Given the description of an element on the screen output the (x, y) to click on. 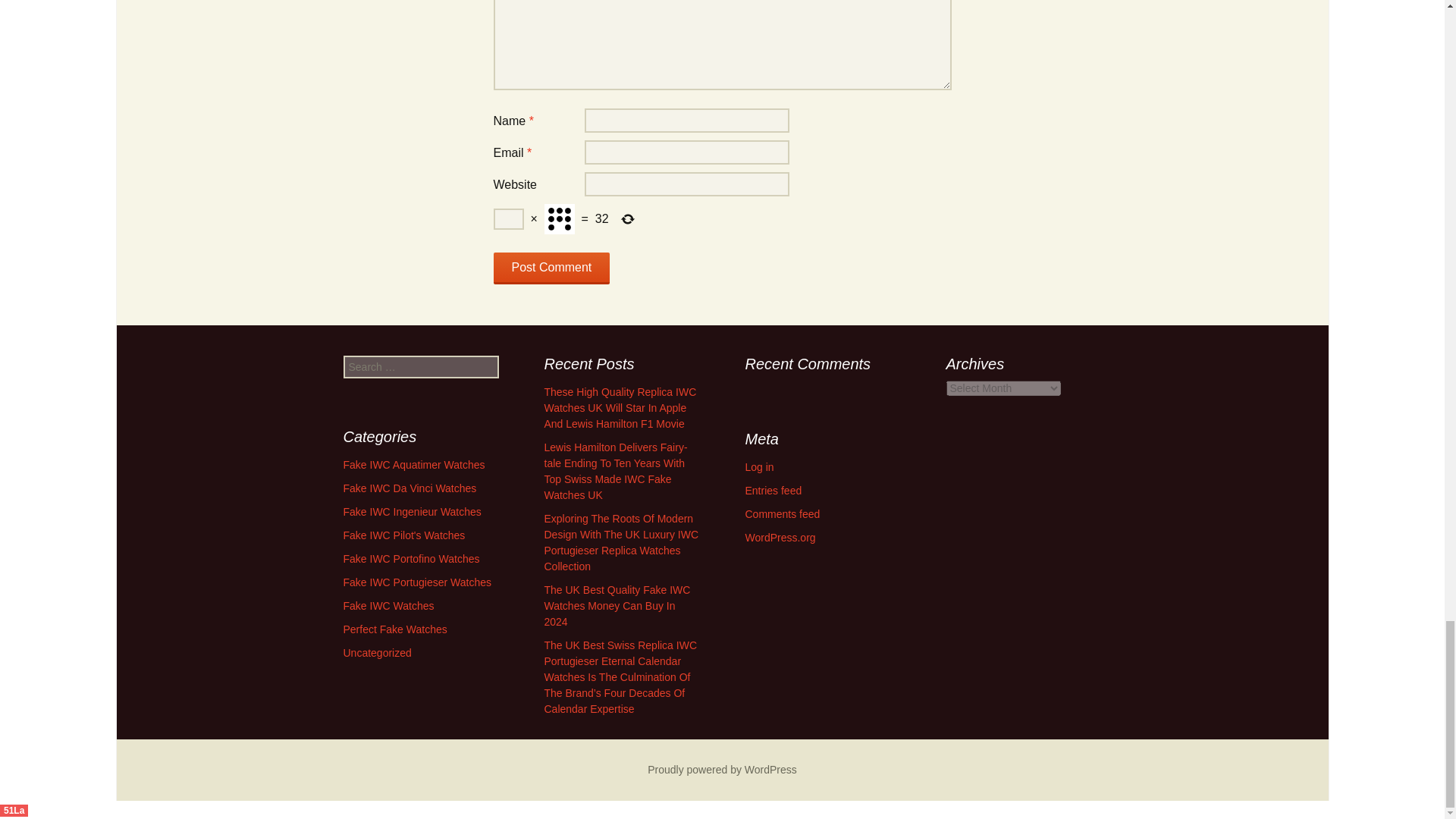
Fake IWC Aquatimer Watches (413, 464)
Entries feed (773, 490)
Post Comment (551, 268)
Uncategorized (376, 653)
Fake IWC Da Vinci Watches (409, 488)
Fake IWC Watches (387, 605)
Perfect Fake Watches (394, 629)
The UK Best Quality Fake IWC Watches Money Can Buy In 2024 (617, 605)
Fake IWC Pilot's Watches (403, 535)
Fake IWC Portugieser Watches (417, 582)
Fake IWC Ingenieur Watches (411, 511)
Post Comment (551, 268)
Fake IWC Portofino Watches (410, 558)
